Given the description of an element on the screen output the (x, y) to click on. 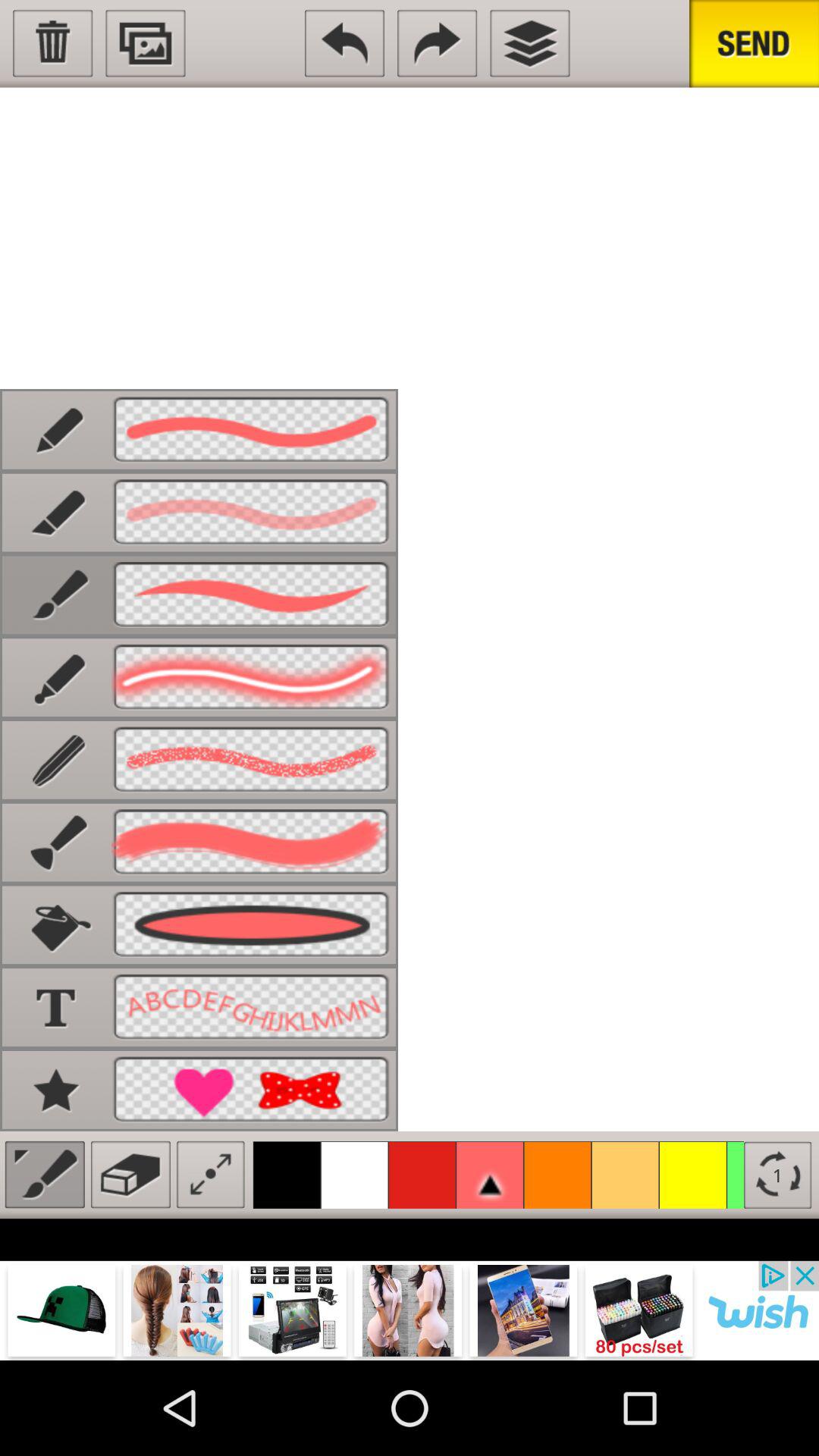
send message (754, 43)
